Given the description of an element on the screen output the (x, y) to click on. 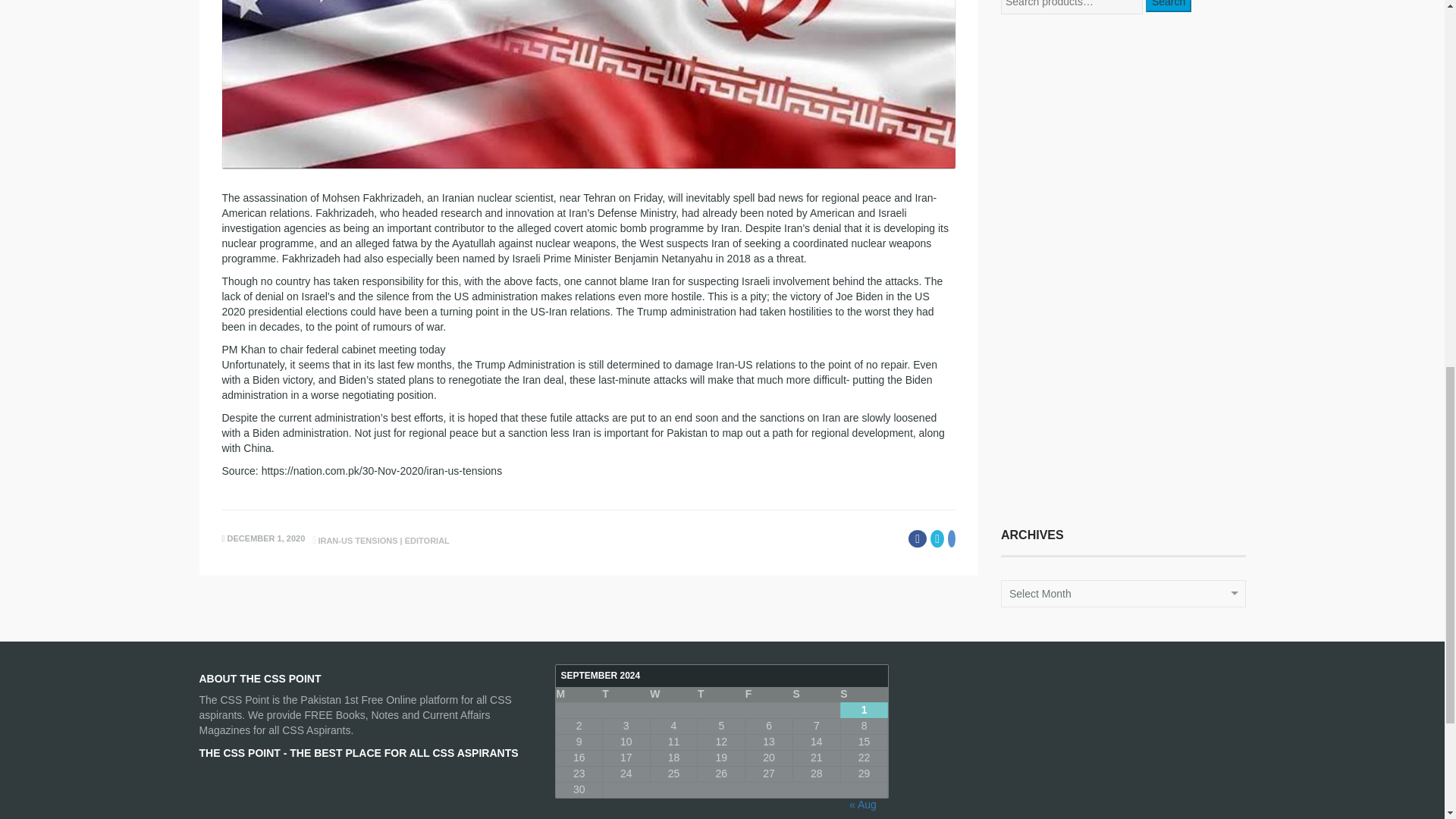
Sunday (864, 694)
Tuesday (625, 694)
Monday (579, 694)
Saturday (816, 694)
Share on Facebook (917, 538)
Friday (769, 694)
Wednesday (673, 694)
Thursday (721, 694)
